Given the description of an element on the screen output the (x, y) to click on. 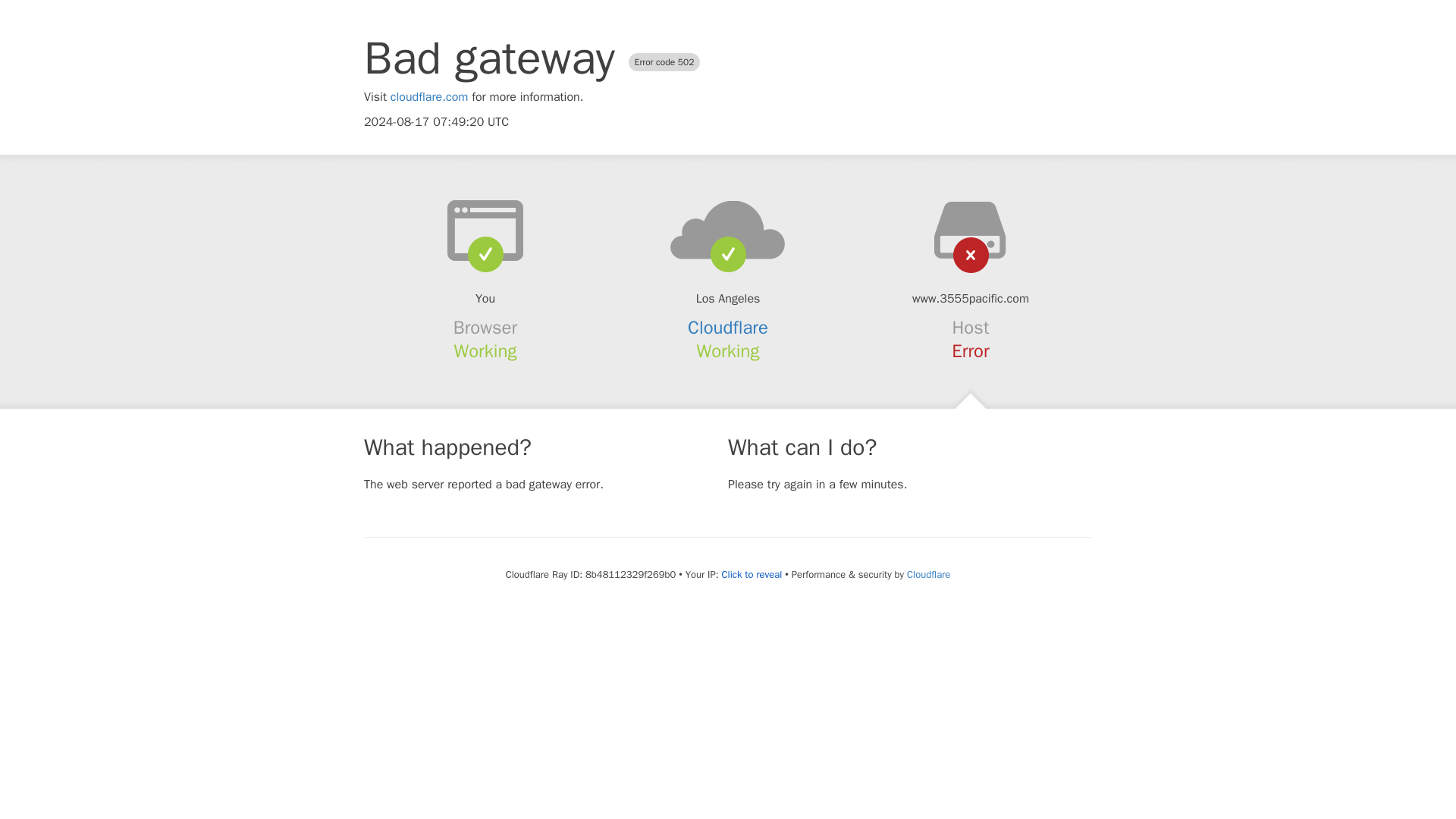
Click to reveal (750, 574)
Cloudflare (928, 574)
cloudflare.com (429, 96)
Cloudflare (727, 327)
